Given the description of an element on the screen output the (x, y) to click on. 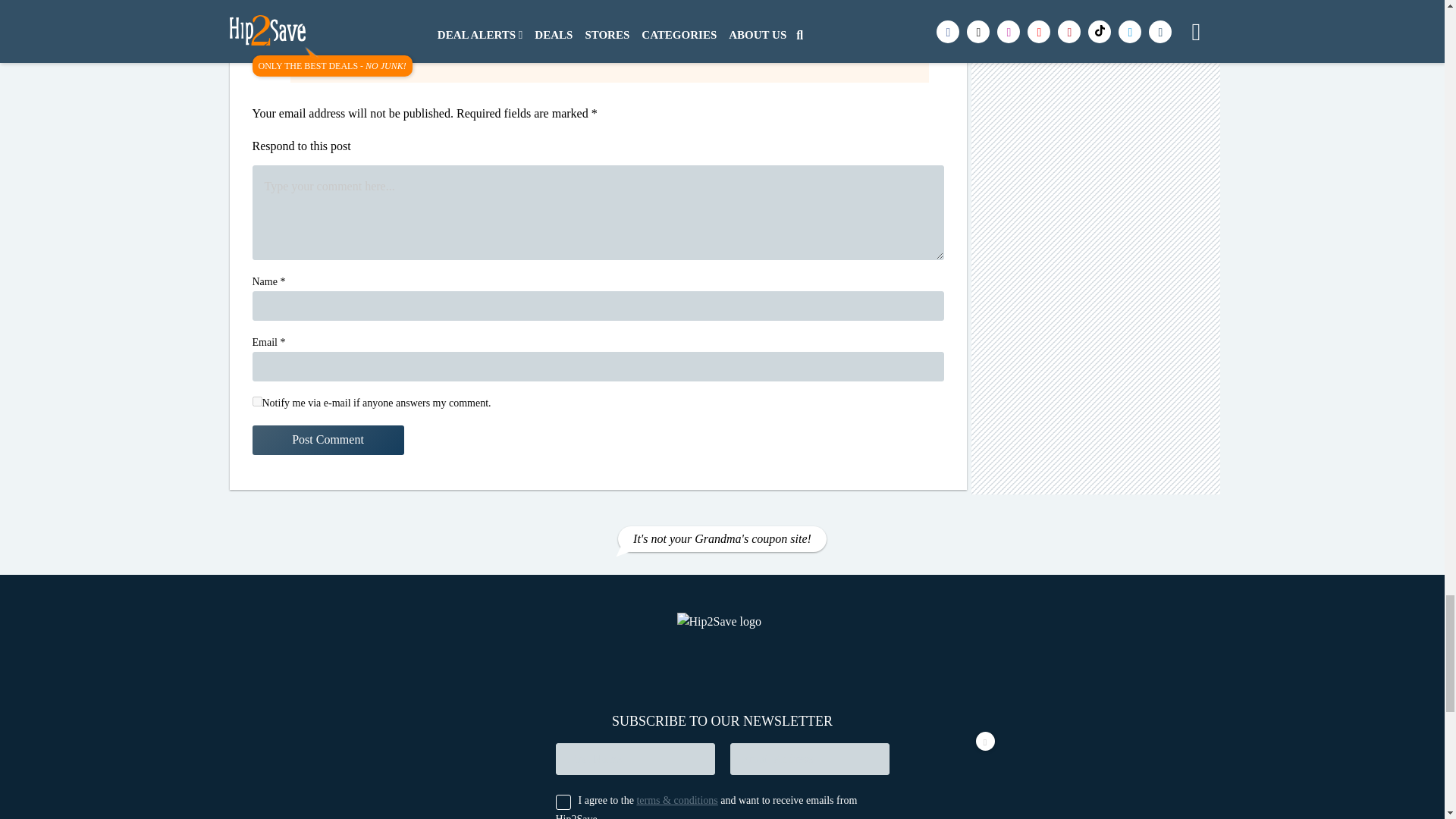
on (256, 401)
Post Comment (327, 440)
